Given the description of an element on the screen output the (x, y) to click on. 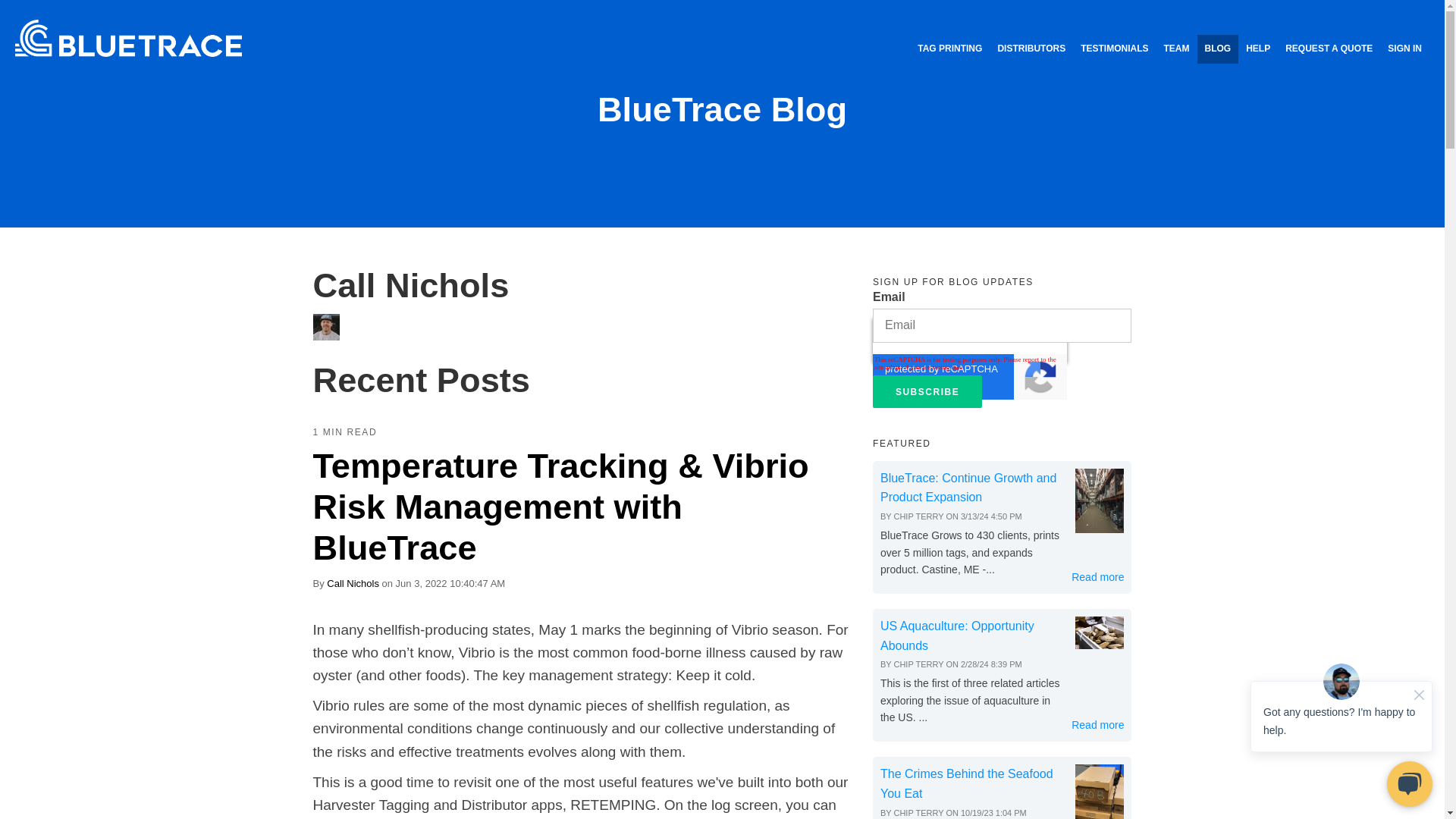
TAG PRINTING (950, 49)
Call Nichols (352, 583)
TEAM (1176, 49)
DISTRIBUTORS (1031, 49)
Read more (1097, 724)
BlueTrace: Continue Growth and Product Expansion (968, 487)
TESTIMONIALS (1114, 49)
BLOG (1217, 49)
Read more (1097, 577)
Subscribe (926, 391)
SIGN IN (1404, 49)
US Aquaculture: Opportunity Abounds (956, 635)
HELP (1258, 49)
Subscribe (926, 391)
The Crimes Behind the Seafood You Eat (966, 783)
